Given the description of an element on the screen output the (x, y) to click on. 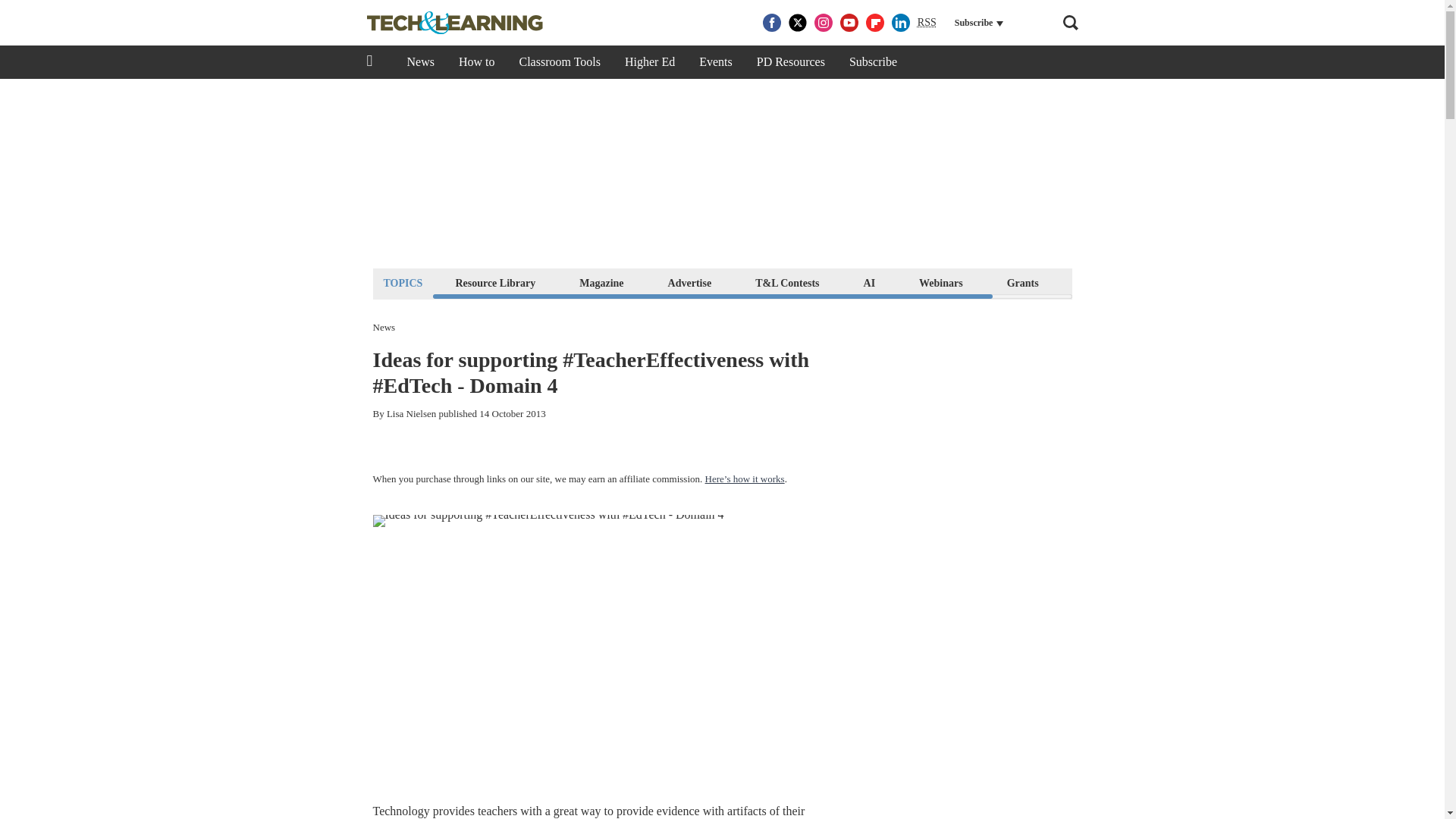
Subscribe (872, 61)
Webinars (941, 282)
Lisa Nielsen (411, 413)
Grants (1022, 282)
Really Simple Syndication (926, 21)
Resource Library (494, 282)
Magazine (600, 282)
How to (476, 61)
Advertise (689, 282)
Higher Ed (649, 61)
